Given the description of an element on the screen output the (x, y) to click on. 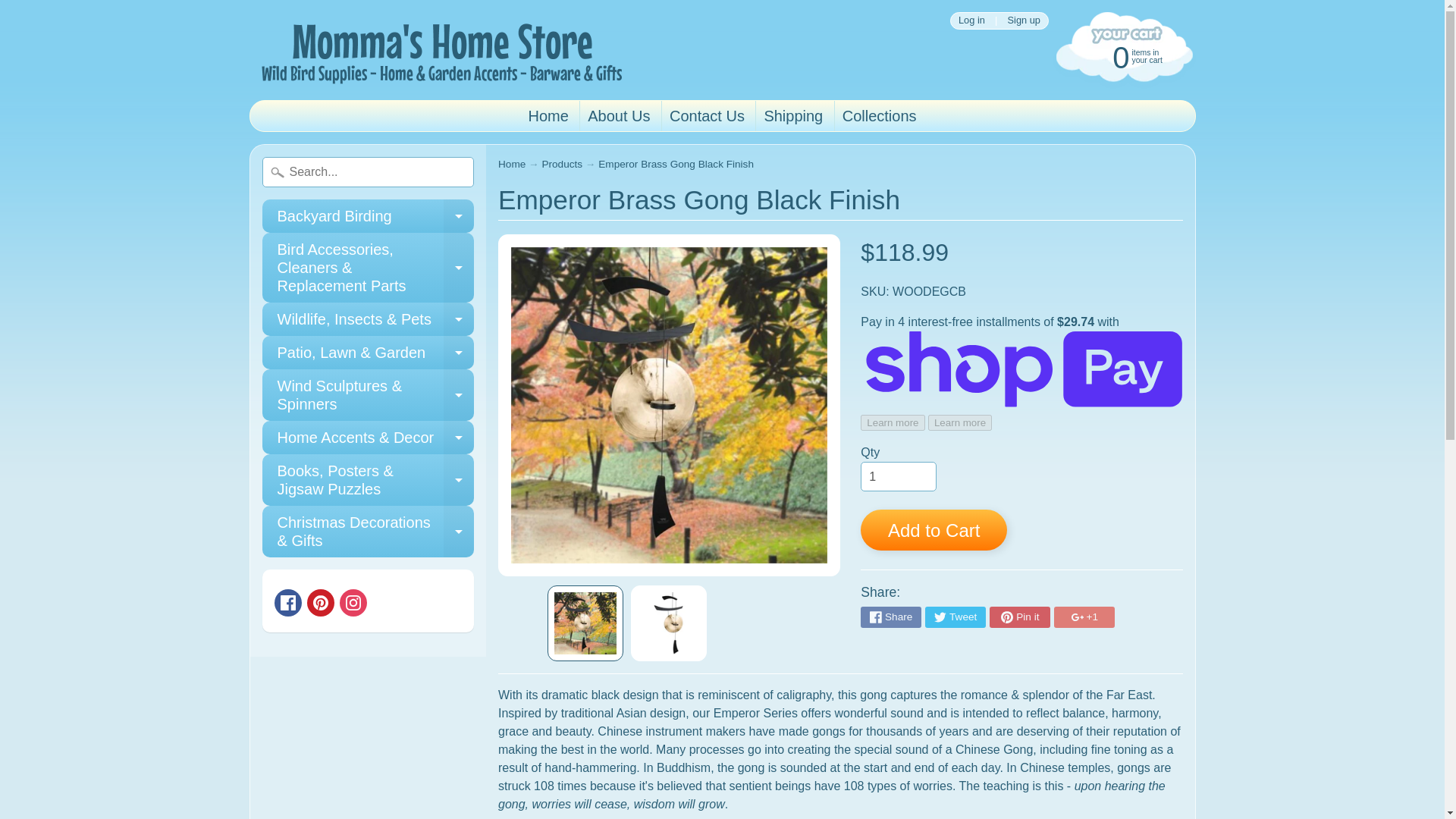
Sign up (1024, 20)
Emperor Brass Gong Black Finish (368, 215)
Facebook (668, 622)
Momma's Home Store (288, 602)
Contact Us (437, 49)
Collections (707, 115)
1 (879, 115)
Instagram (898, 476)
Pinterest (352, 602)
Shipping (320, 602)
Home (792, 115)
Expand child menu (547, 115)
Log in (459, 215)
Pin on Pinterest (970, 20)
